Given the description of an element on the screen output the (x, y) to click on. 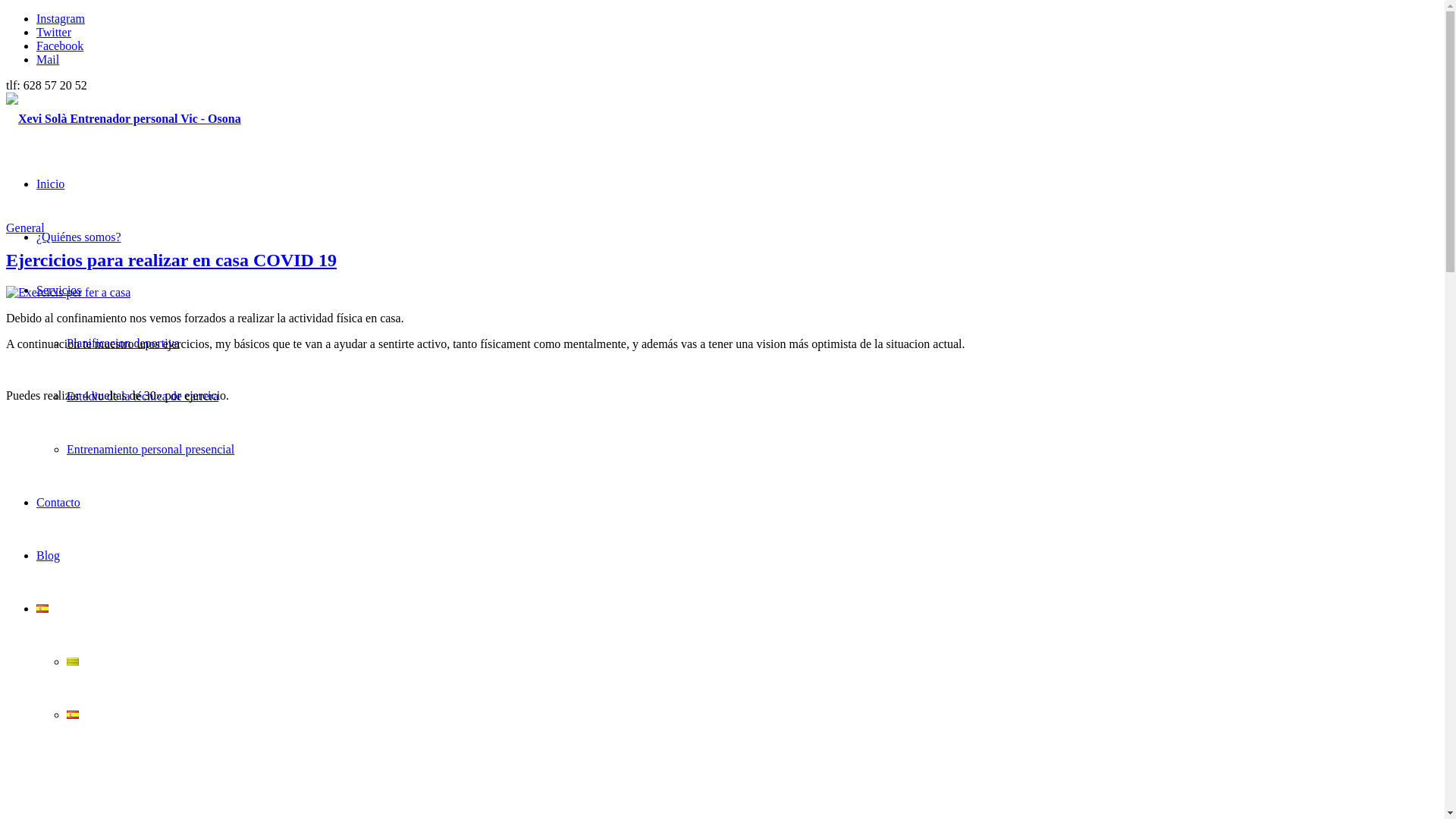
Inicio Element type: text (50, 183)
Instagram Element type: text (60, 18)
covid 19 Element type: hover (68, 291)
Facebook Element type: text (59, 45)
Entrenamiento personal presencial Element type: text (150, 448)
Mail Element type: text (47, 59)
General Element type: text (25, 227)
Contacto Element type: text (58, 501)
Twitter Element type: text (53, 31)
Blog Element type: text (47, 555)
Servicios Element type: text (58, 289)
Planificacion deportiva Element type: text (122, 342)
Ejercicios para realizar en casa COVID 19 Element type: text (171, 259)
